Given the description of an element on the screen output the (x, y) to click on. 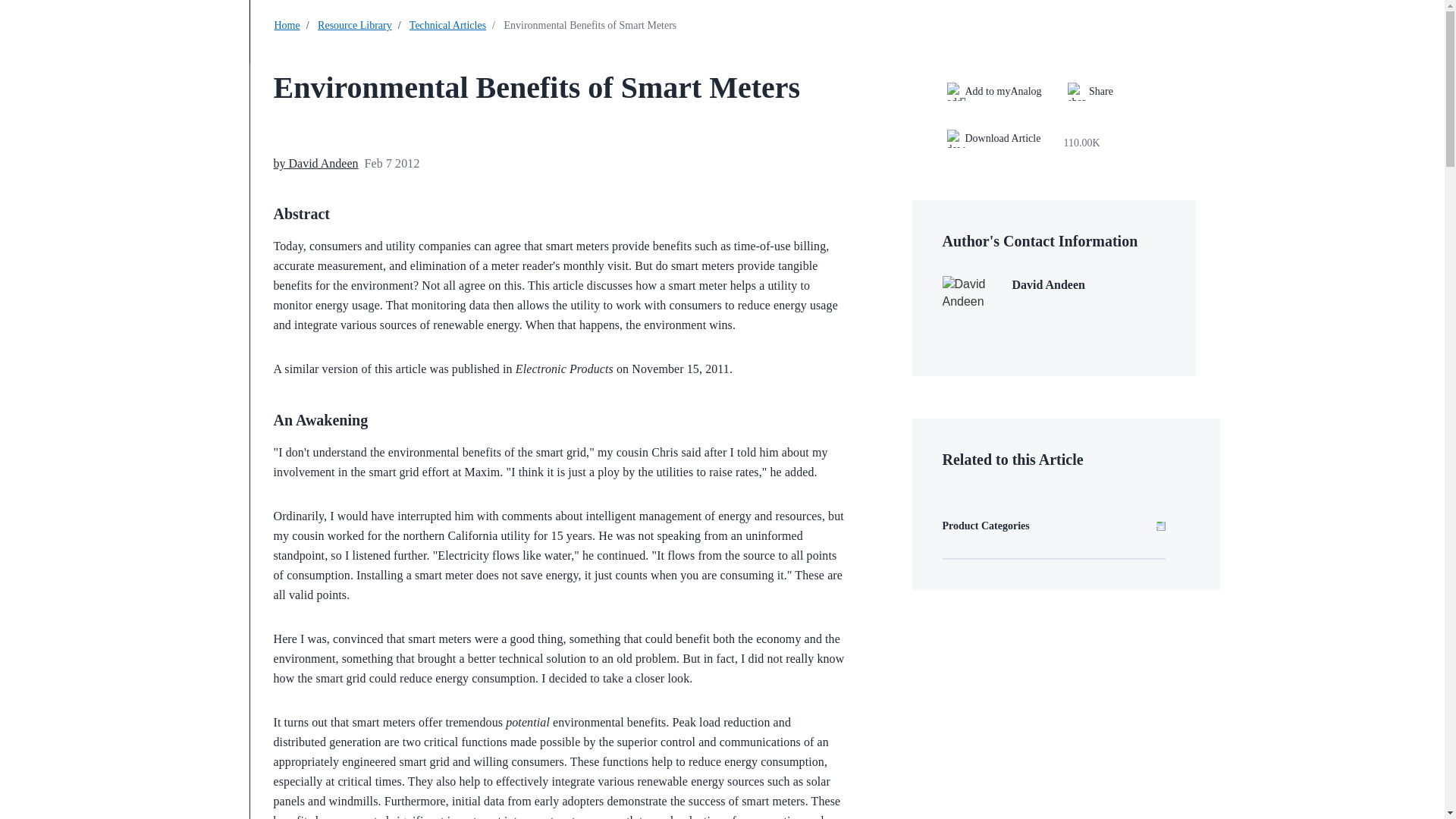
Resource Library (354, 25)
Add to myAnalog (993, 91)
Download Article (993, 138)
David Andeen (323, 163)
Download Article (1002, 143)
Share (1090, 91)
Home (287, 25)
Technical Articles (447, 25)
